Given the description of an element on the screen output the (x, y) to click on. 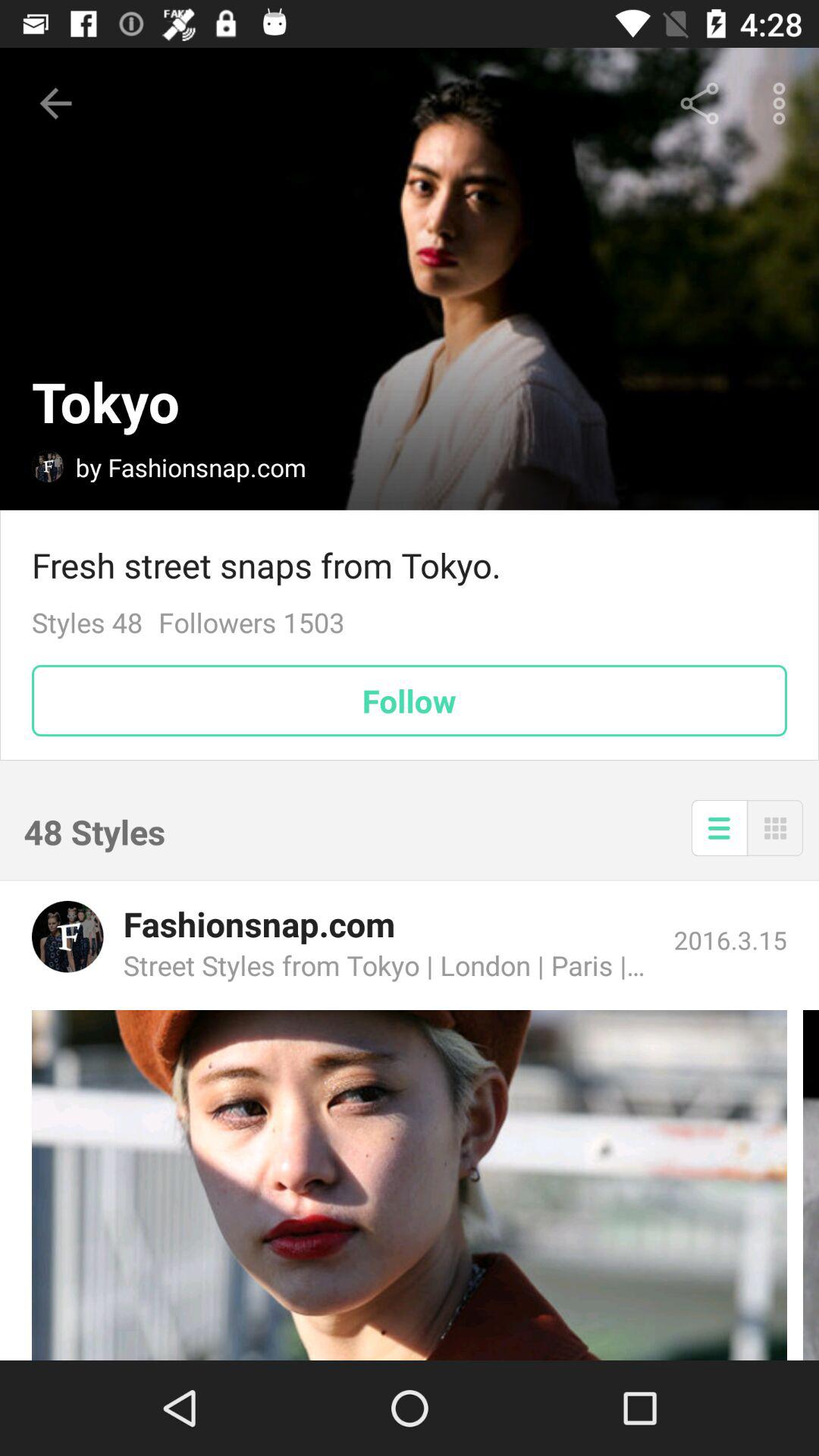
home page icon (47, 466)
